Given the description of an element on the screen output the (x, y) to click on. 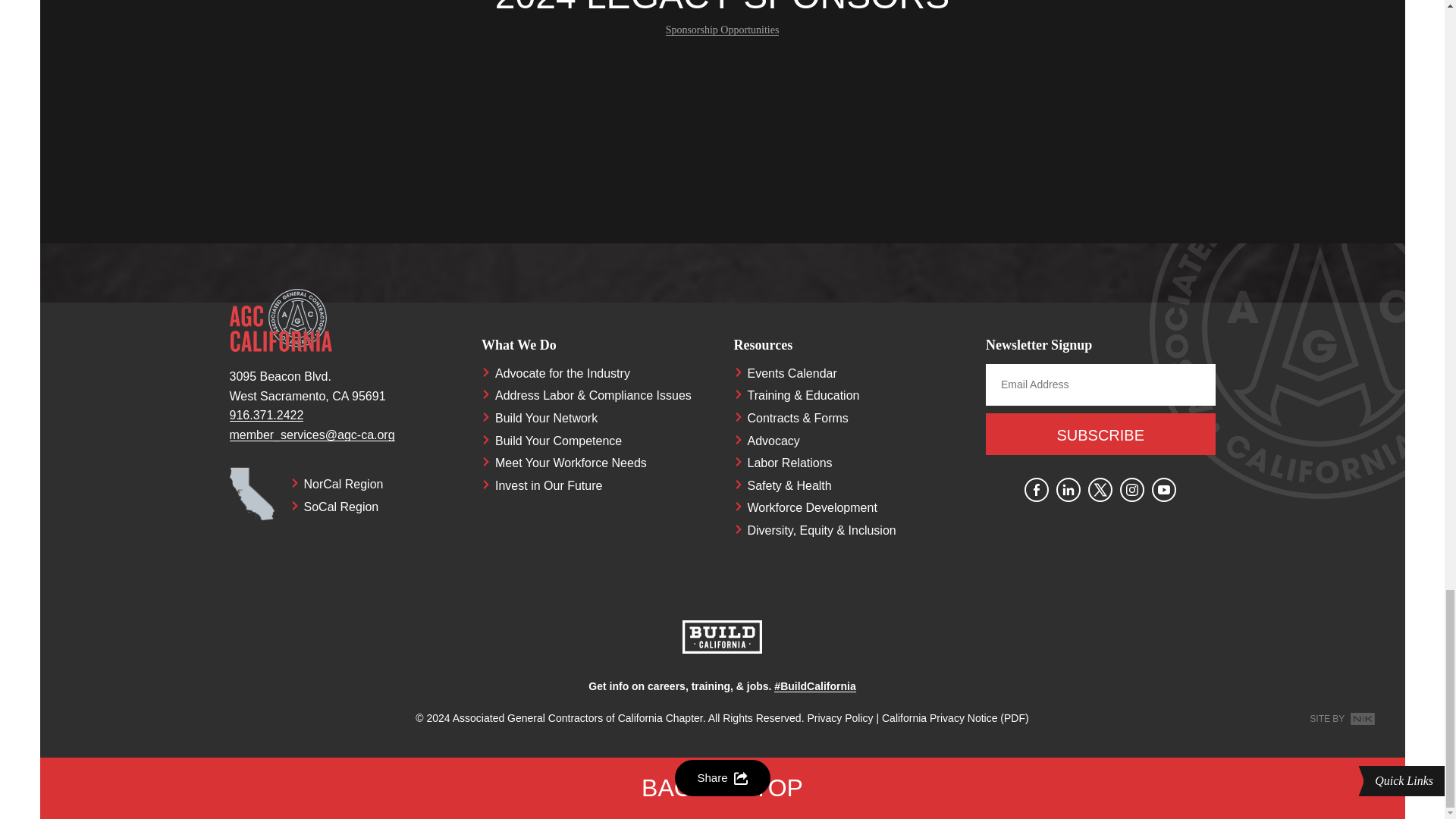
LinkedIn (1068, 489)
X (1099, 489)
Facebook (1036, 489)
YouTube (1163, 489)
Instagram (1131, 489)
